Given the description of an element on the screen output the (x, y) to click on. 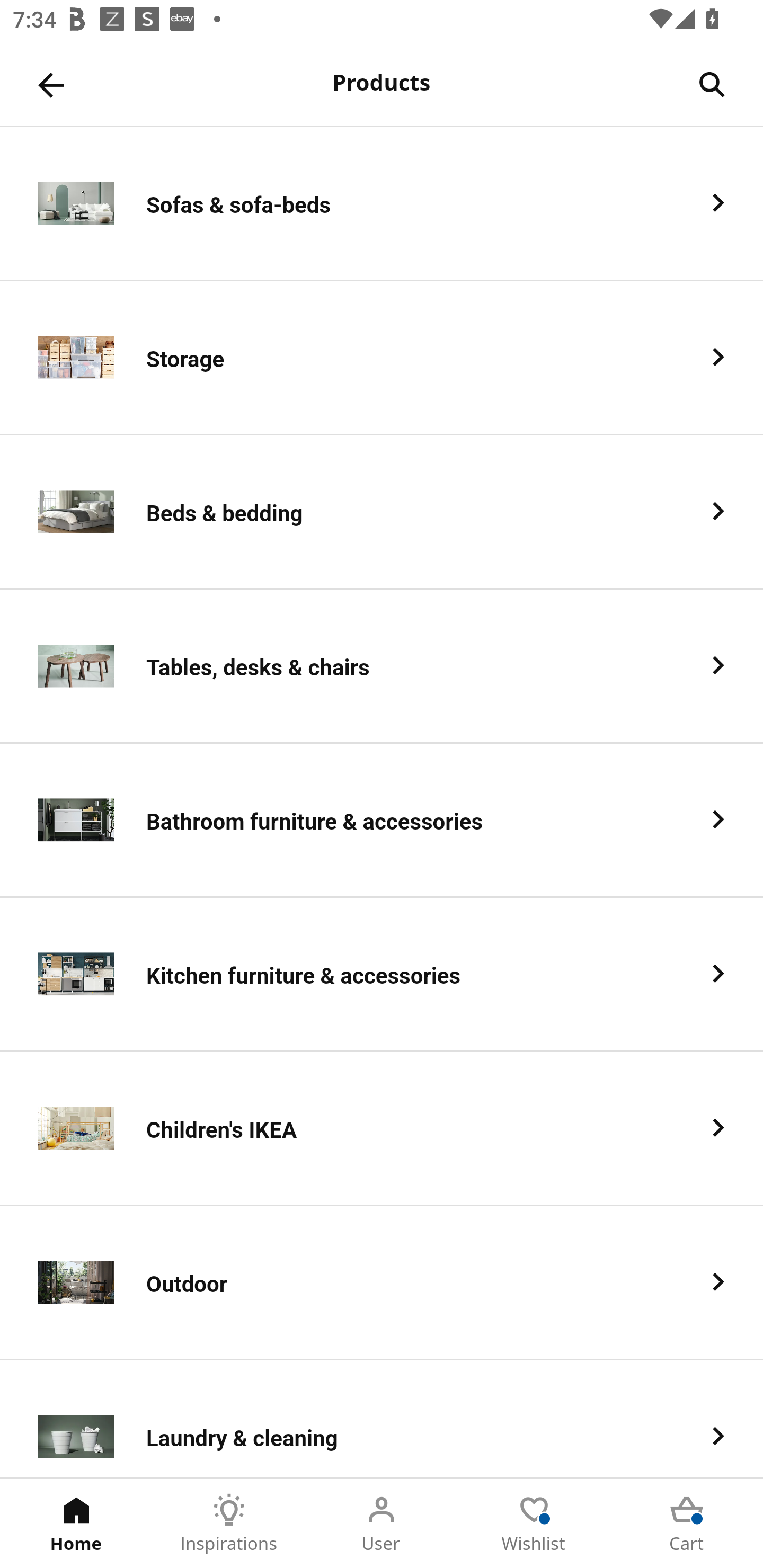
Sofas & sofa-beds (381, 203)
Storage (381, 357)
Beds & bedding (381, 512)
Tables, desks & chairs (381, 666)
Bathroom furniture & accessories (381, 820)
Kitchen furniture & accessories (381, 975)
Children's IKEA (381, 1128)
Outdoor (381, 1283)
Laundry & cleaning (381, 1419)
Home
Tab 1 of 5 (76, 1522)
Inspirations
Tab 2 of 5 (228, 1522)
User
Tab 3 of 5 (381, 1522)
Wishlist
Tab 4 of 5 (533, 1522)
Cart
Tab 5 of 5 (686, 1522)
